Given the description of an element on the screen output the (x, y) to click on. 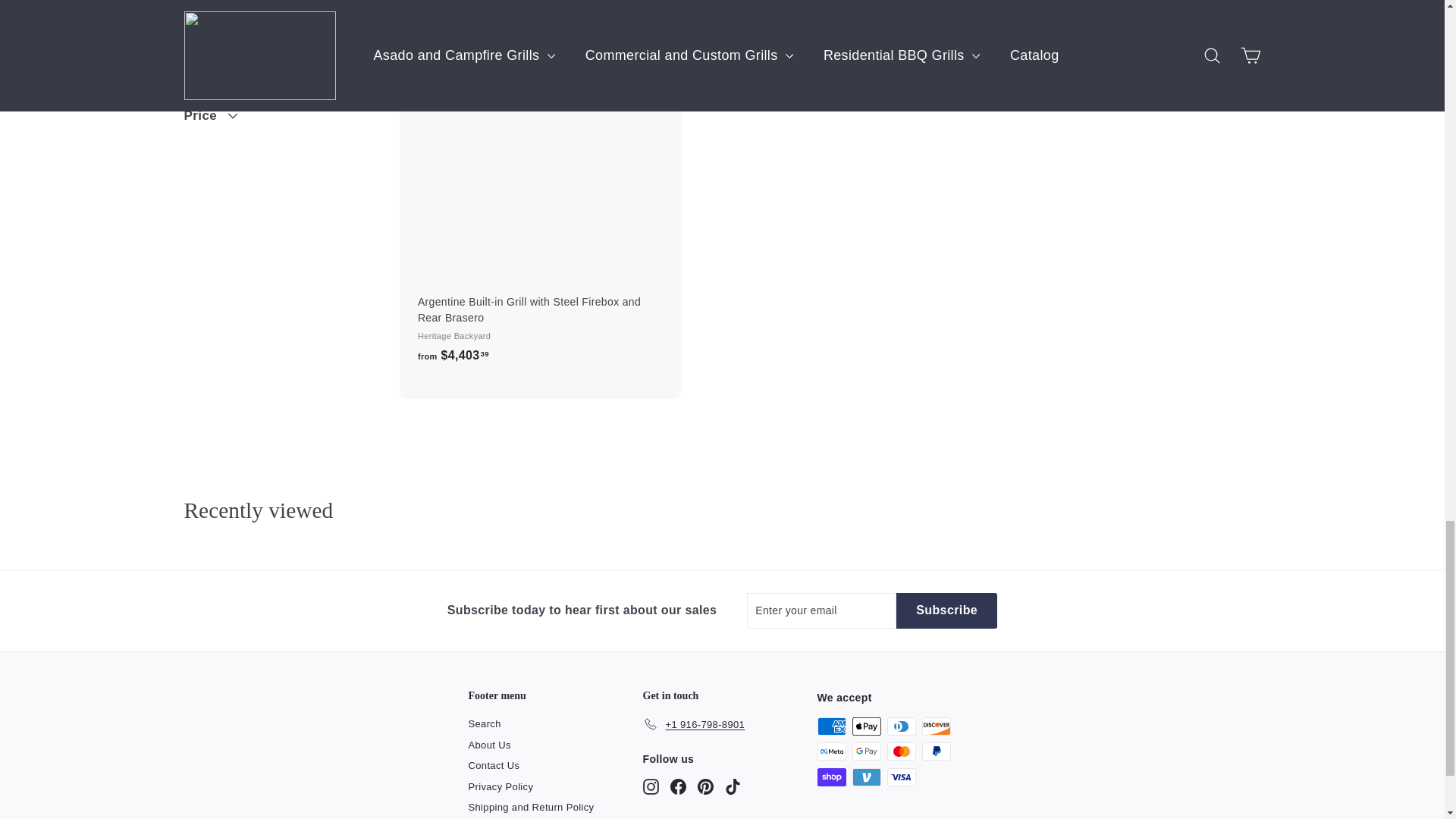
Meta Pay (830, 751)
instagram (651, 786)
Apple Pay (865, 726)
American Express (830, 726)
Diners Club (900, 726)
Discover (935, 726)
